Given the description of an element on the screen output the (x, y) to click on. 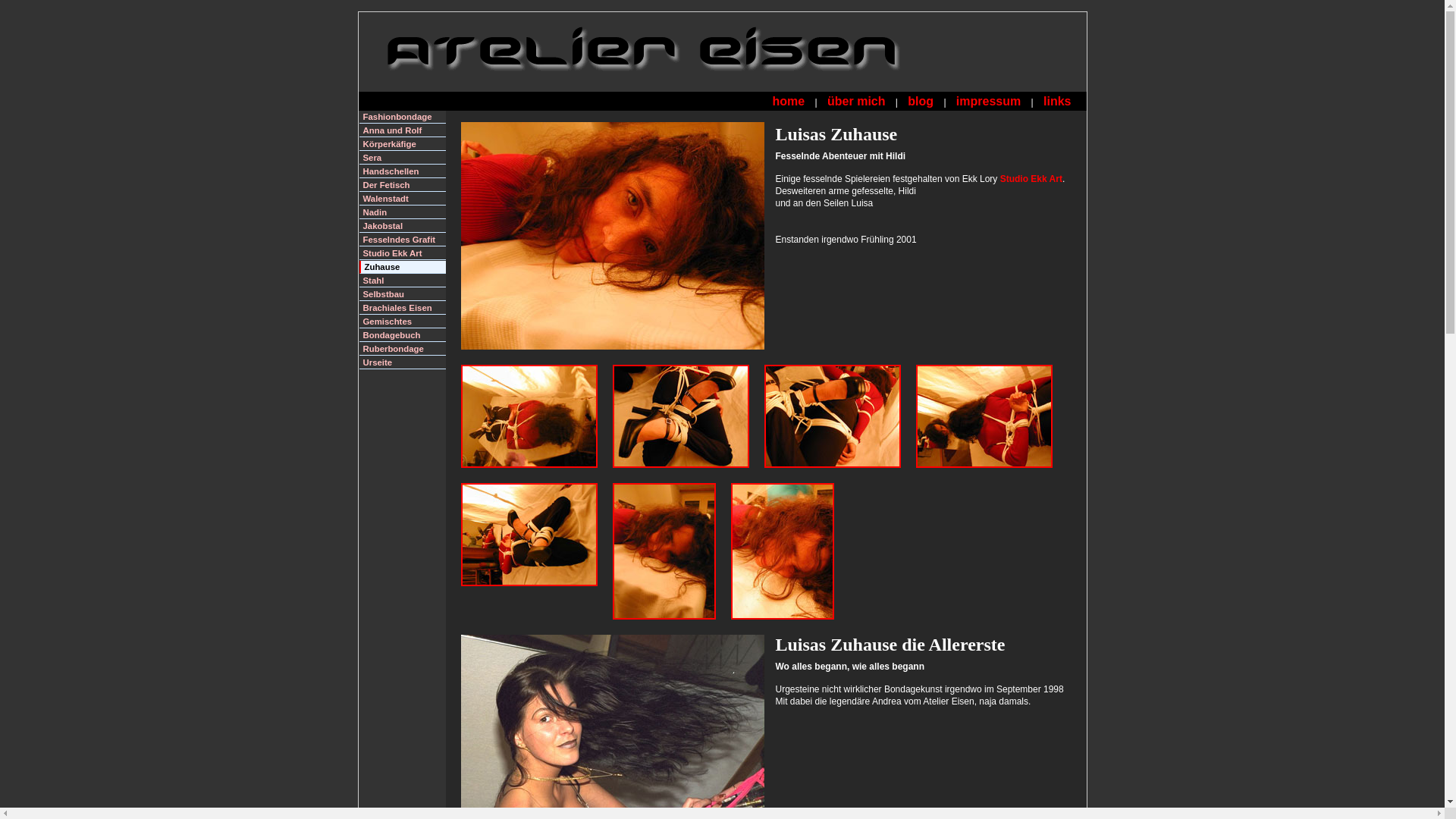
Jakobstal Element type: text (402, 225)
Ruberbondage Element type: text (402, 348)
Der Fetisch Element type: text (402, 184)
links Element type: text (1056, 100)
Banner Atelier Eisen Element type: hover (660, 48)
Urseite Element type: text (402, 362)
Studio Ekk Art Element type: text (402, 253)
Anna und Rolf Element type: text (402, 130)
Nadin Element type: text (402, 212)
Studio Ekk Art Element type: text (1031, 178)
Hildi Element type: hover (615, 243)
Bondagebuch Element type: text (402, 335)
Hildi Element type: hover (832, 415)
Sera Element type: text (402, 157)
blog Element type: text (920, 100)
Handschellen Element type: text (402, 171)
Hildi Element type: hover (529, 415)
Zuhause Element type: text (402, 266)
Fashionbondage Element type: text (402, 116)
Fesselndes Grafit Element type: text (402, 239)
Gemischtes Element type: text (402, 321)
Walenstadt Element type: text (402, 198)
Hildi Element type: hover (984, 415)
home Element type: text (788, 100)
impressum Element type: text (988, 100)
Hildi Element type: hover (782, 551)
Hildi Element type: hover (680, 415)
Hildi Element type: hover (663, 551)
Selbstbau Element type: text (402, 294)
Hildi Element type: hover (529, 534)
Brachiales Eisen Element type: text (402, 307)
Stahl Element type: text (402, 280)
